Given the description of an element on the screen output the (x, y) to click on. 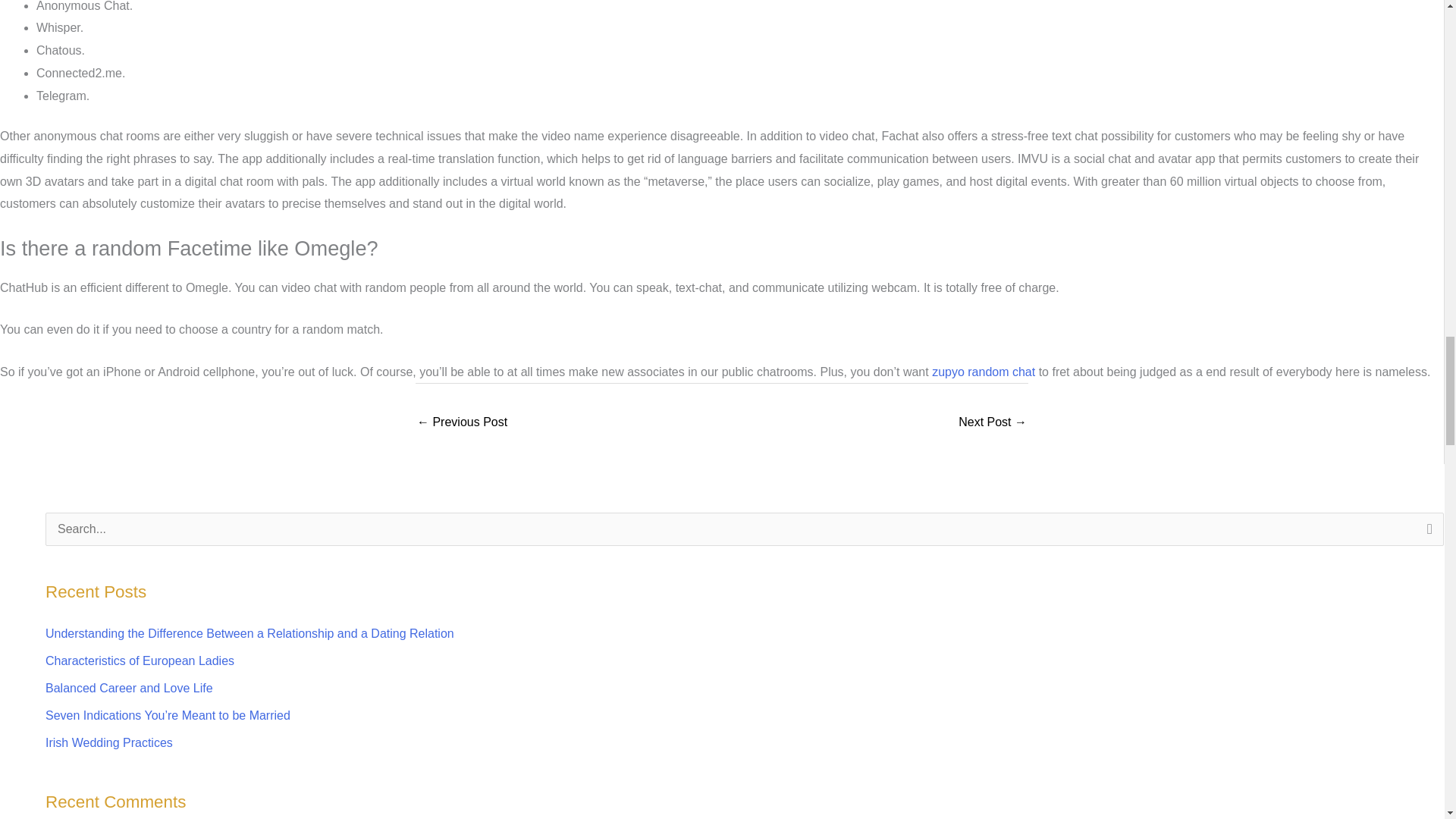
Balanced Career and Love Life (128, 687)
Free Chat Rooms For Everyone (992, 423)
Irish Wedding Practices (109, 742)
zupyo random chat (983, 371)
Characteristics of European Ladies (139, 660)
